Given the description of an element on the screen output the (x, y) to click on. 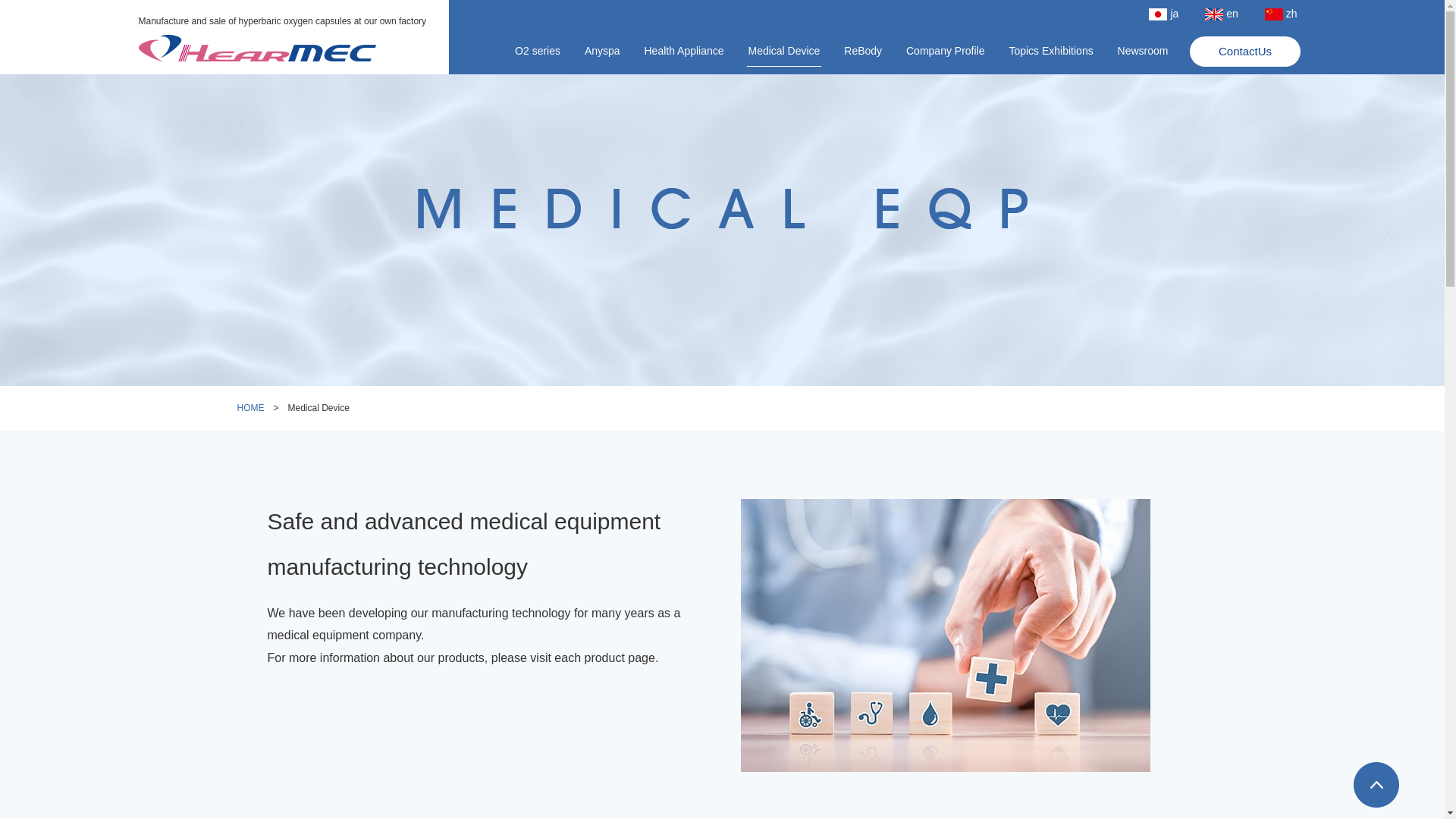
HOME (249, 407)
ContactUs (1244, 51)
Company Profile (945, 51)
Health Appliance (684, 51)
Newsroom (1142, 51)
O2 series (536, 51)
Anyspa (601, 51)
ja (1164, 14)
Topics Exhibitions (1050, 51)
ReBody (862, 51)
en (1221, 14)
zh (1280, 14)
Medical Device (782, 51)
